Given the description of an element on the screen output the (x, y) to click on. 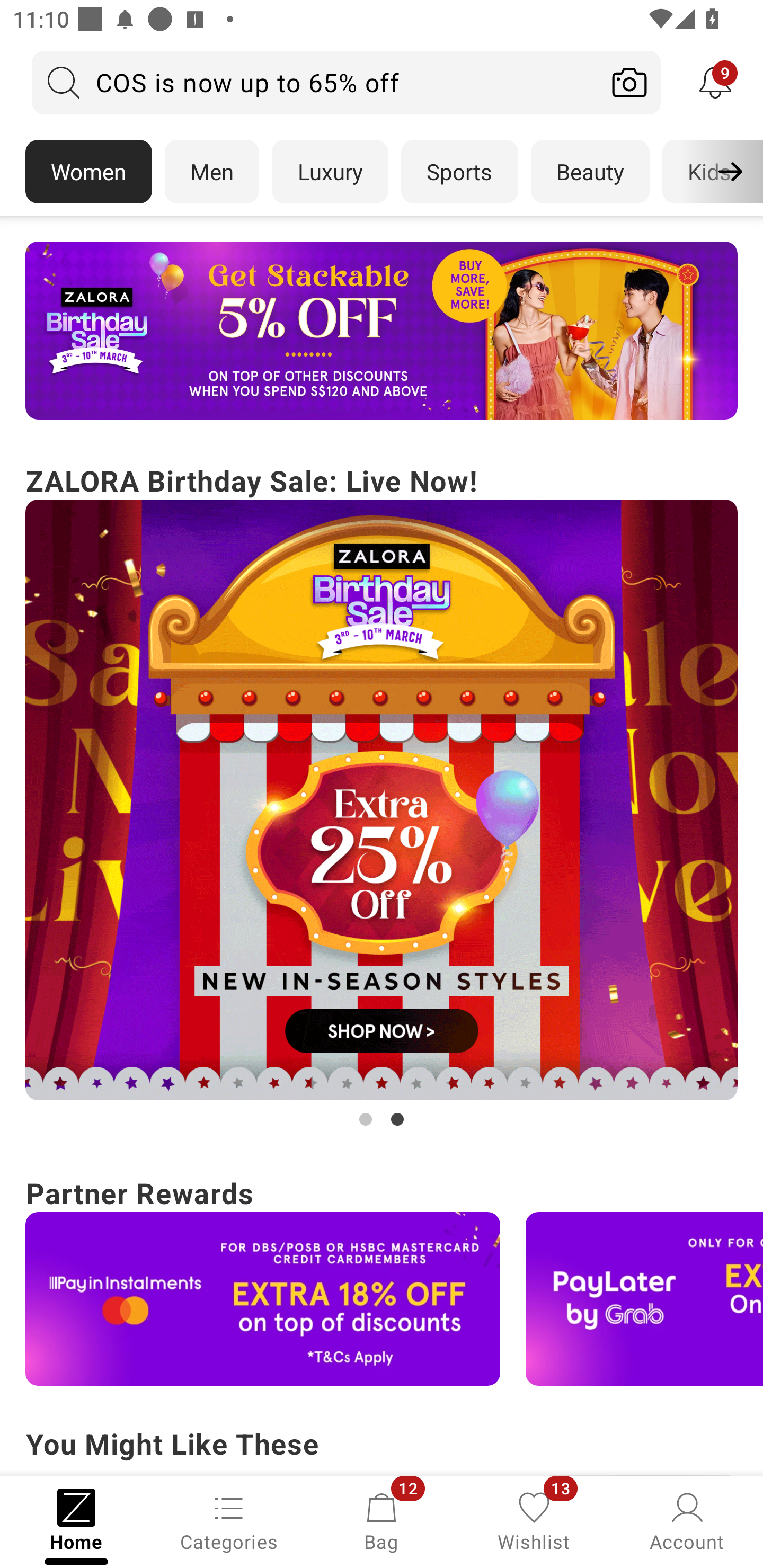
COS is now up to 65% off (314, 82)
Women (88, 171)
Men (211, 171)
Luxury (329, 171)
Sports (459, 171)
Beauty (590, 171)
Campaign banner (381, 330)
ZALORA Birthday Sale: Live Now! Campaign banner (381, 794)
Campaign banner (381, 800)
Partner Rewards Campaign banner Campaign banner (381, 1277)
Campaign banner (262, 1299)
Campaign banner (644, 1299)
Categories (228, 1519)
Bag, 12 new notifications Bag (381, 1519)
Wishlist, 13 new notifications Wishlist (533, 1519)
Account (686, 1519)
